Given the description of an element on the screen output the (x, y) to click on. 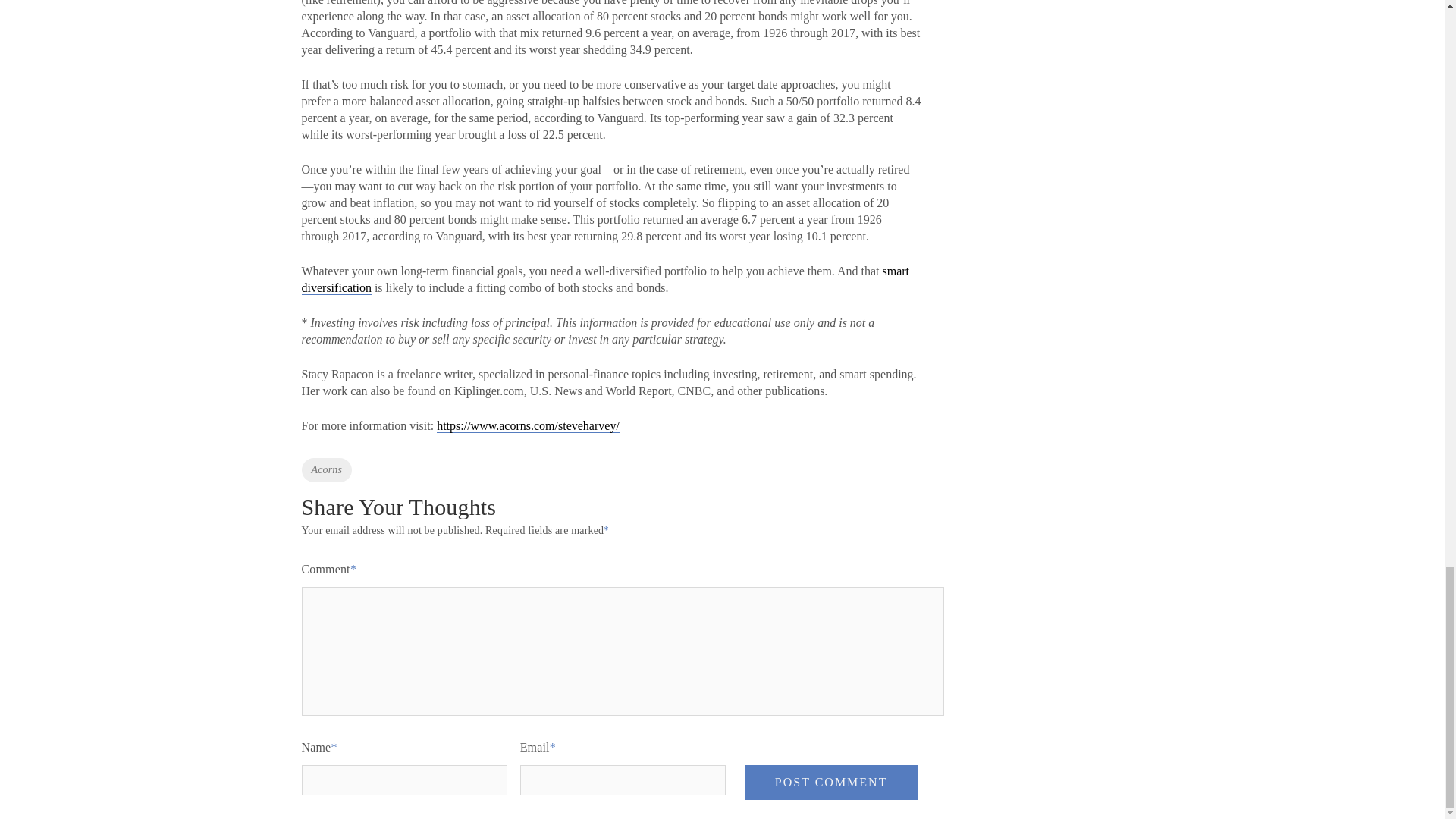
Post Comment (831, 782)
smart diversification (605, 279)
Post Comment (831, 782)
Acorns (326, 469)
